Given the description of an element on the screen output the (x, y) to click on. 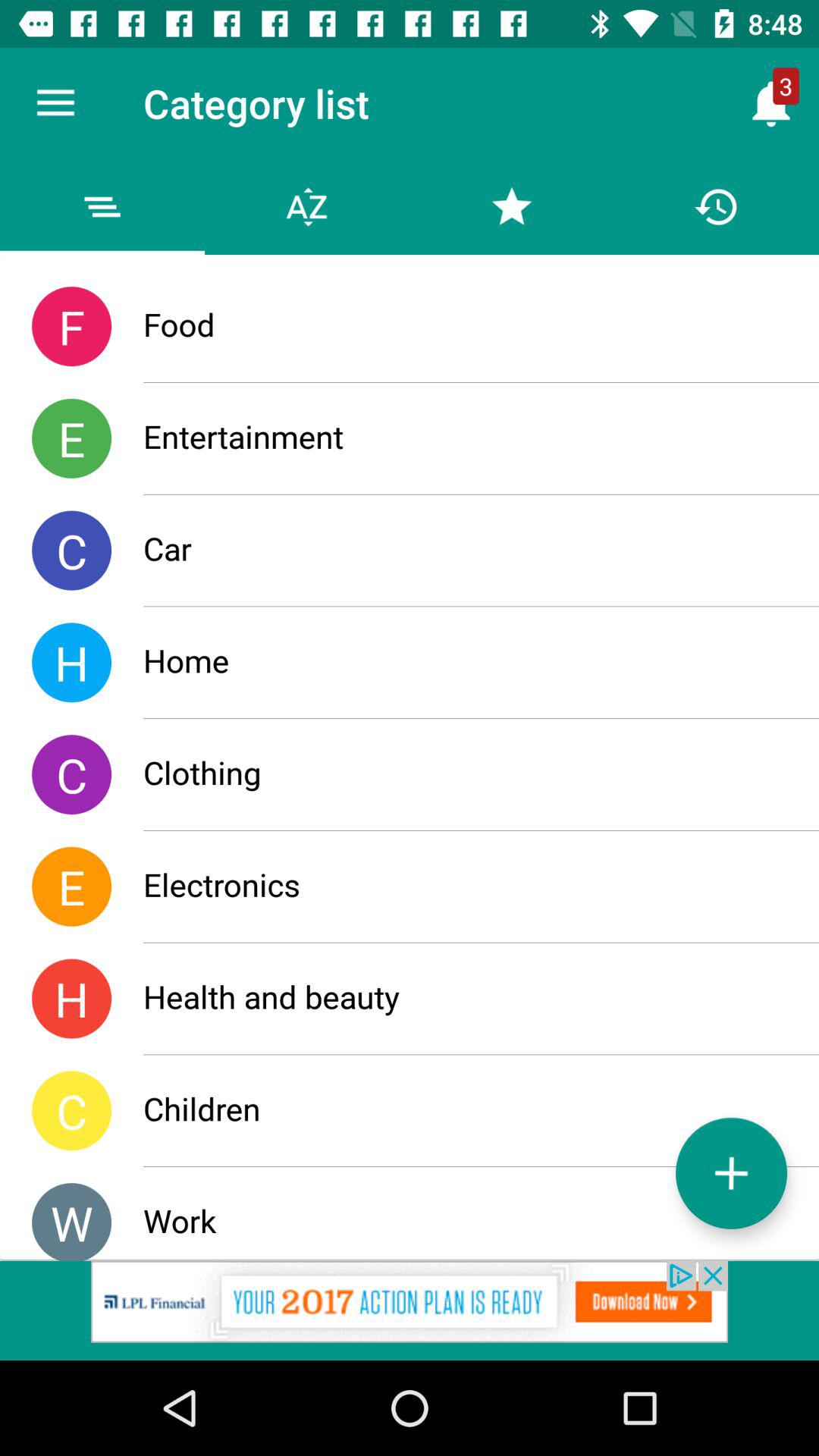
open advertisement (409, 1310)
